Given the description of an element on the screen output the (x, y) to click on. 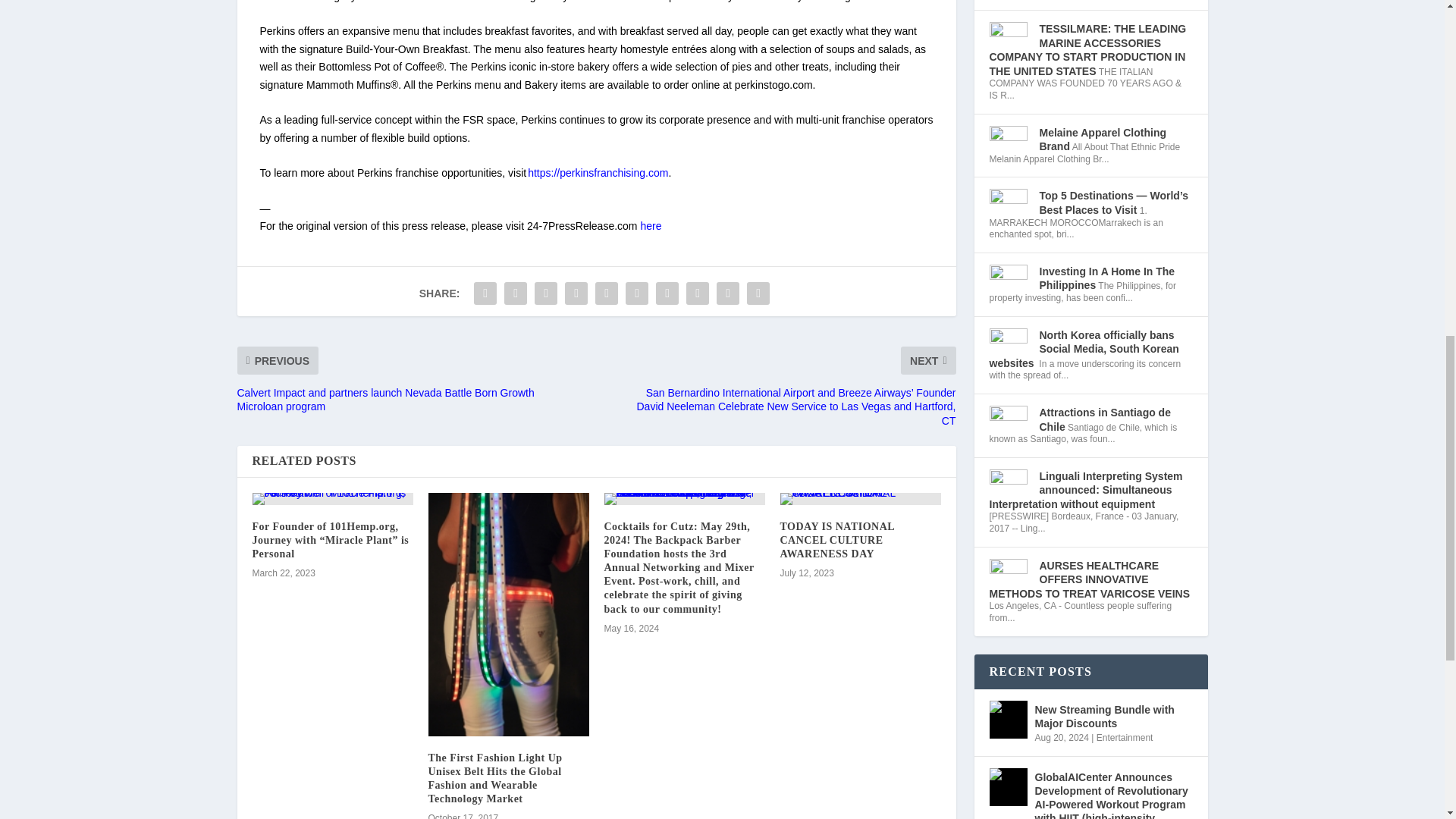
TODAY IS NATIONAL CANCEL CULTURE AWARENESS DAY (859, 499)
New Streaming Bundle with Major Discounts (1007, 719)
TODAY IS NATIONAL CANCEL CULTURE AWARENESS DAY (835, 539)
here (650, 225)
